Given the description of an element on the screen output the (x, y) to click on. 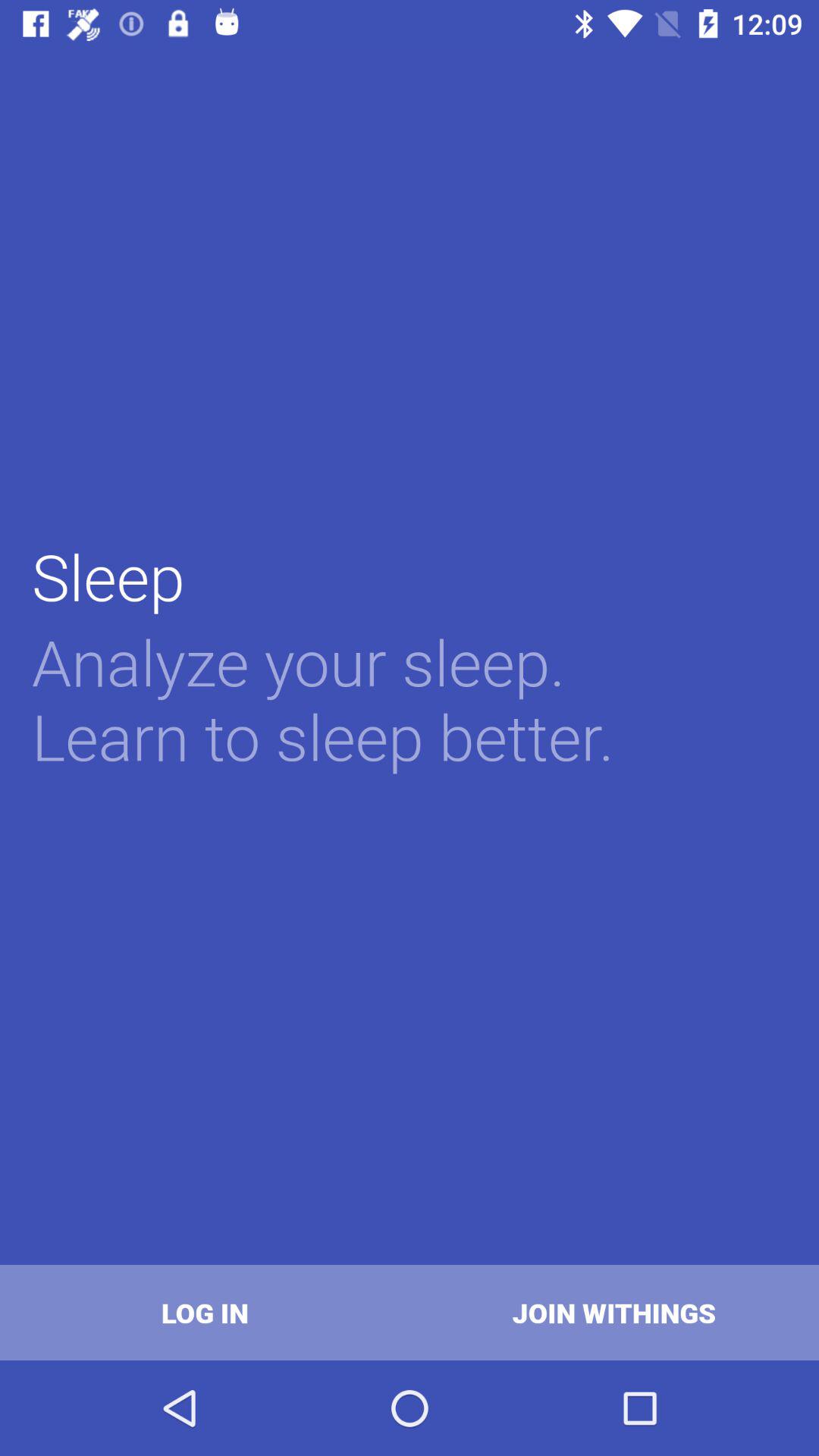
select join withings at the bottom right corner (614, 1312)
